Given the description of an element on the screen output the (x, y) to click on. 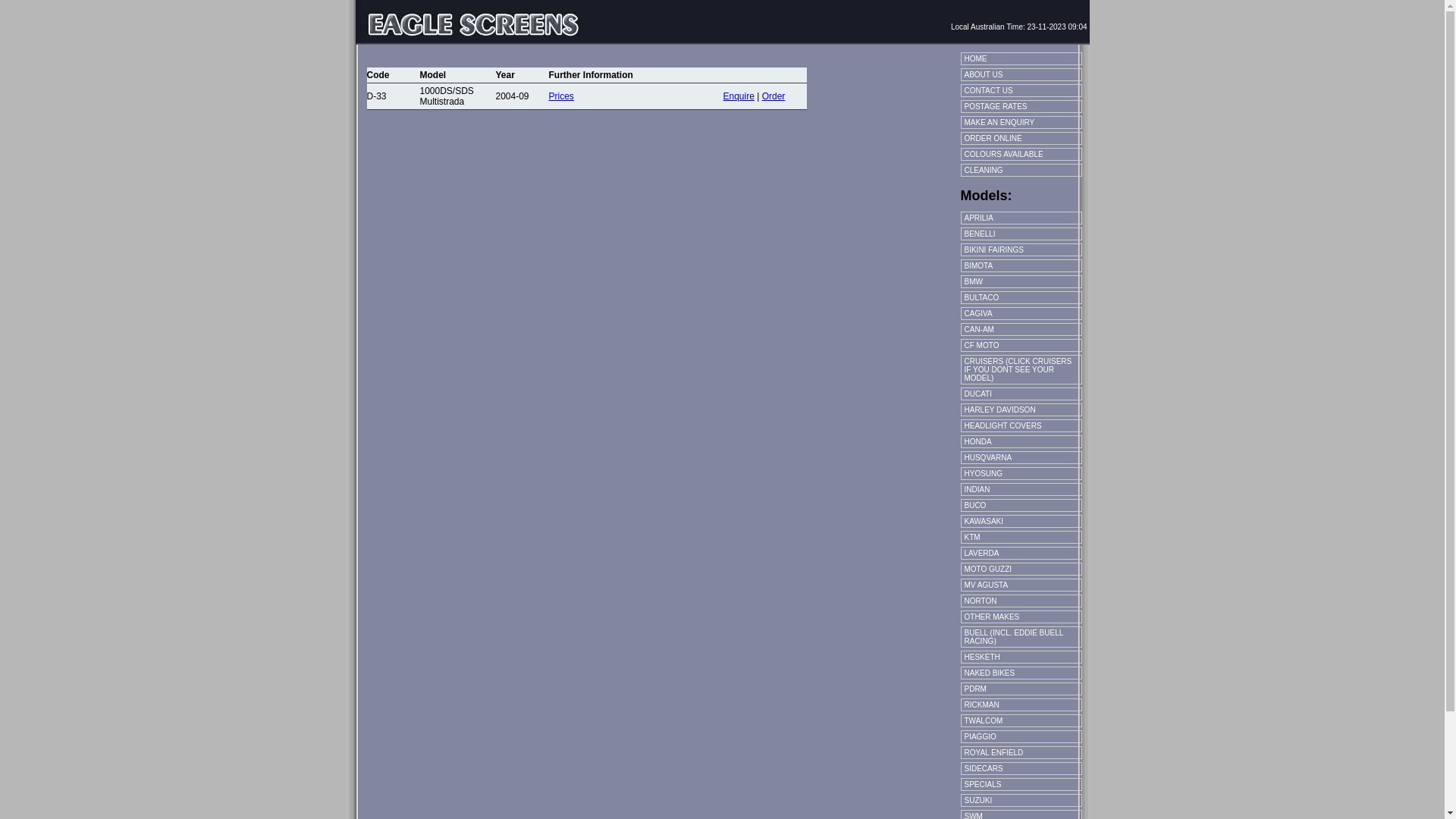
SPECIALS Element type: text (1020, 784)
POSTAGE RATES Element type: text (1020, 106)
OTHER MAKES Element type: text (1020, 616)
CRUISERS (CLICK CRUISERS IF YOU DONT SEE YOUR MODEL) Element type: text (1020, 369)
TWALCOM Element type: text (1020, 720)
DUCATI Element type: text (1020, 393)
HARLEY DAVIDSON Element type: text (1020, 409)
PDRM Element type: text (1020, 688)
ABOUT US Element type: text (1020, 74)
BIKINI FAIRINGS Element type: text (1020, 249)
HESKETH Element type: text (1020, 656)
COLOURS AVAILABLE Element type: text (1020, 153)
BMW Element type: text (1020, 281)
MOTO GUZZI Element type: text (1020, 568)
HONDA Element type: text (1020, 441)
LAVERDA Element type: text (1020, 552)
HUSQVARNA Element type: text (1020, 457)
MV AGUSTA Element type: text (1020, 584)
SIDECARS Element type: text (1020, 768)
KAWASAKI Element type: text (1020, 520)
SUZUKI Element type: text (1020, 799)
MAKE AN ENQUIRY Element type: text (1020, 122)
Enquire Element type: text (738, 96)
KTM Element type: text (1020, 536)
HYOSUNG Element type: text (1020, 473)
CF MOTO Element type: text (1020, 344)
NORTON Element type: text (1020, 600)
BUELL (INCL. EDDIE BUELL RACING) Element type: text (1020, 636)
BUCO Element type: text (1020, 504)
NAKED BIKES Element type: text (1020, 672)
RICKMAN Element type: text (1020, 704)
APRILIA Element type: text (1020, 217)
HEADLIGHT COVERS Element type: text (1020, 425)
ORDER ONLINE Element type: text (1020, 137)
CAGIVA Element type: text (1020, 313)
Order Element type: text (773, 96)
BIMOTA Element type: text (1020, 265)
BULTACO Element type: text (1020, 297)
CAN-AM Element type: text (1020, 329)
INDIAN Element type: text (1020, 489)
CONTACT US Element type: text (1020, 90)
ROYAL ENFIELD Element type: text (1020, 752)
PIAGGIO Element type: text (1020, 736)
CLEANING Element type: text (1020, 169)
HOME Element type: text (1020, 58)
BENELLI Element type: text (1020, 233)
Prices Element type: text (561, 96)
